Given the description of an element on the screen output the (x, y) to click on. 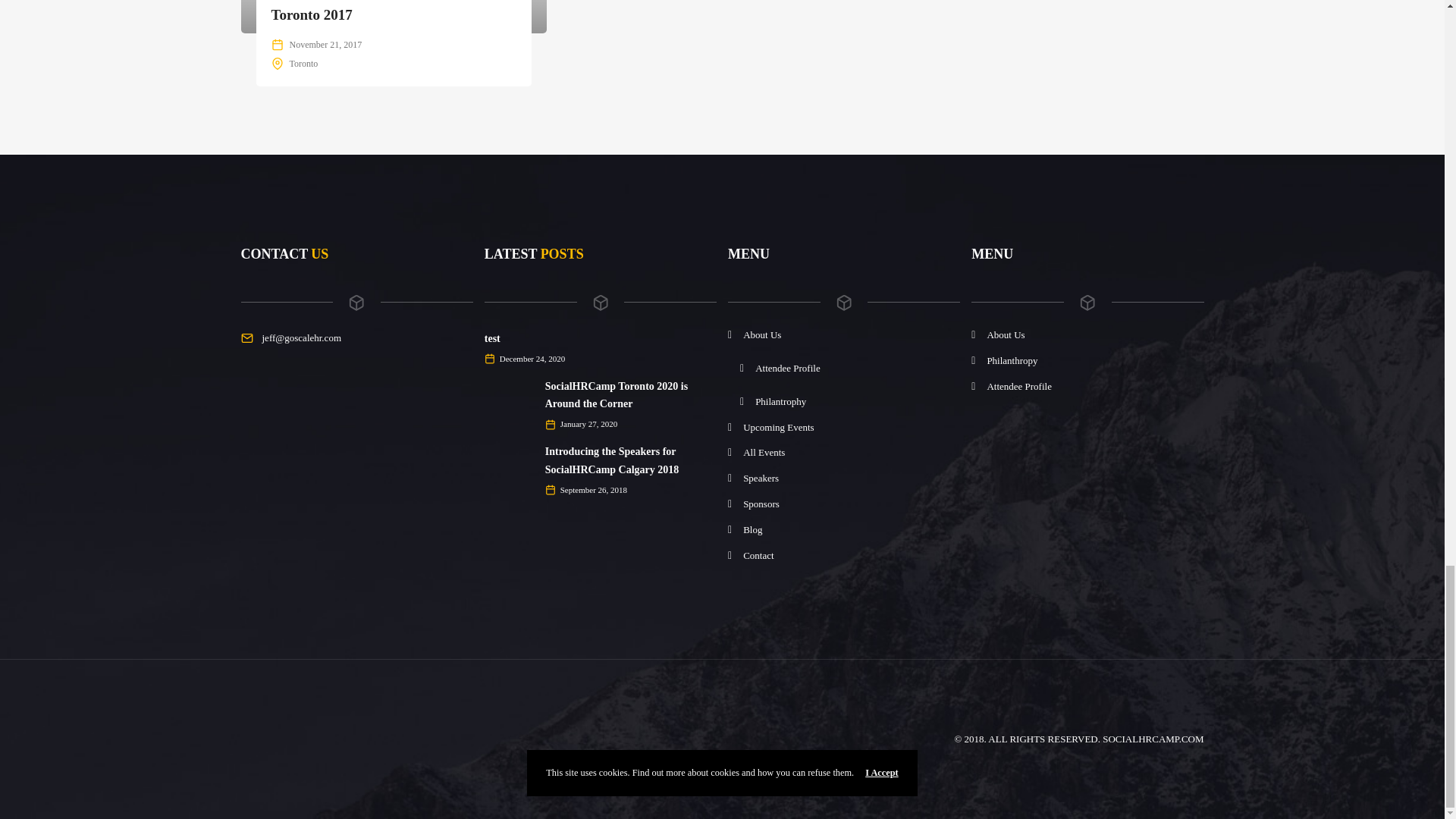
test (492, 337)
Toronto (303, 63)
Toronto 2017 (311, 14)
